Given the description of an element on the screen output the (x, y) to click on. 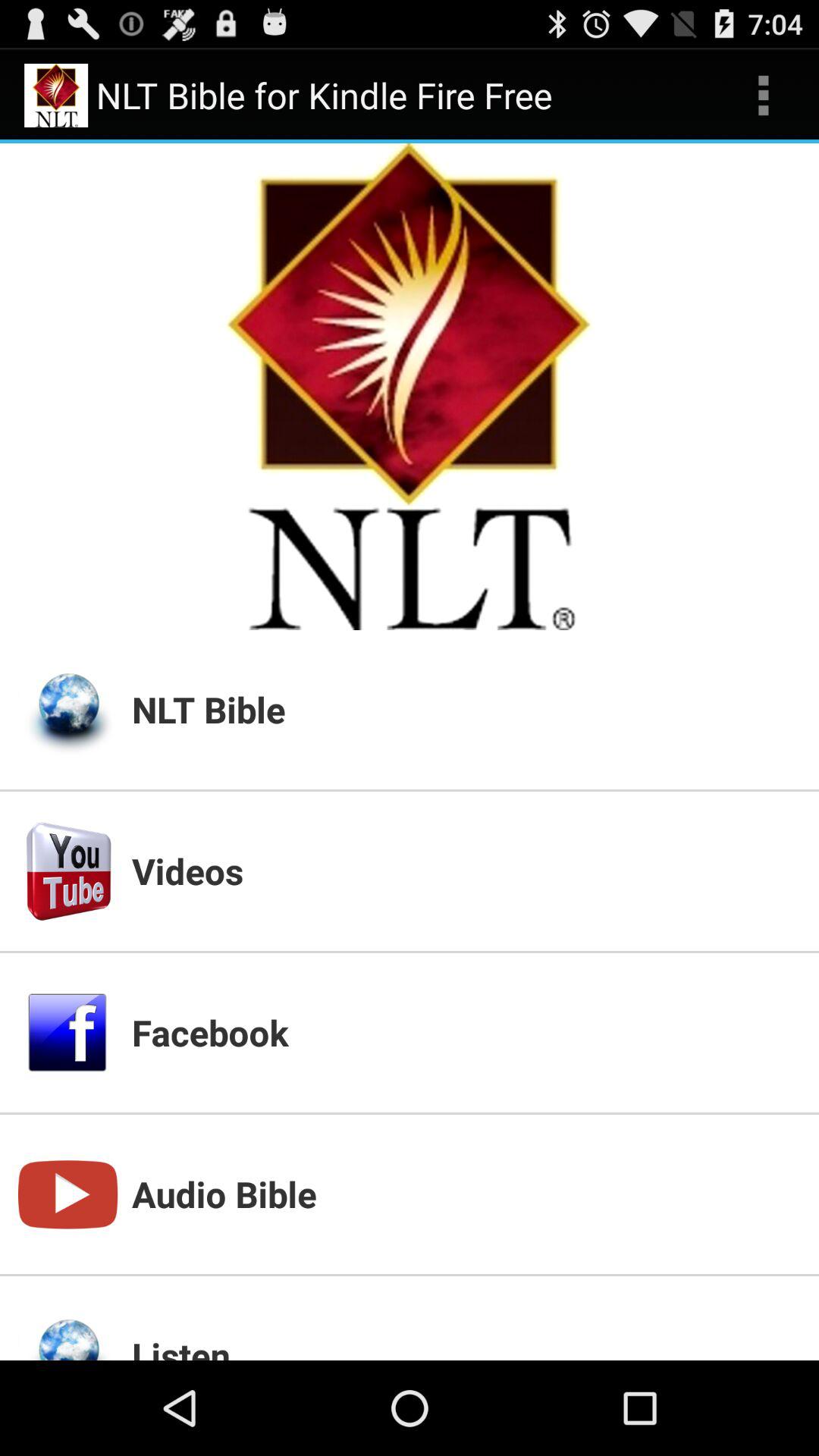
click app above listen app (465, 1193)
